Given the description of an element on the screen output the (x, y) to click on. 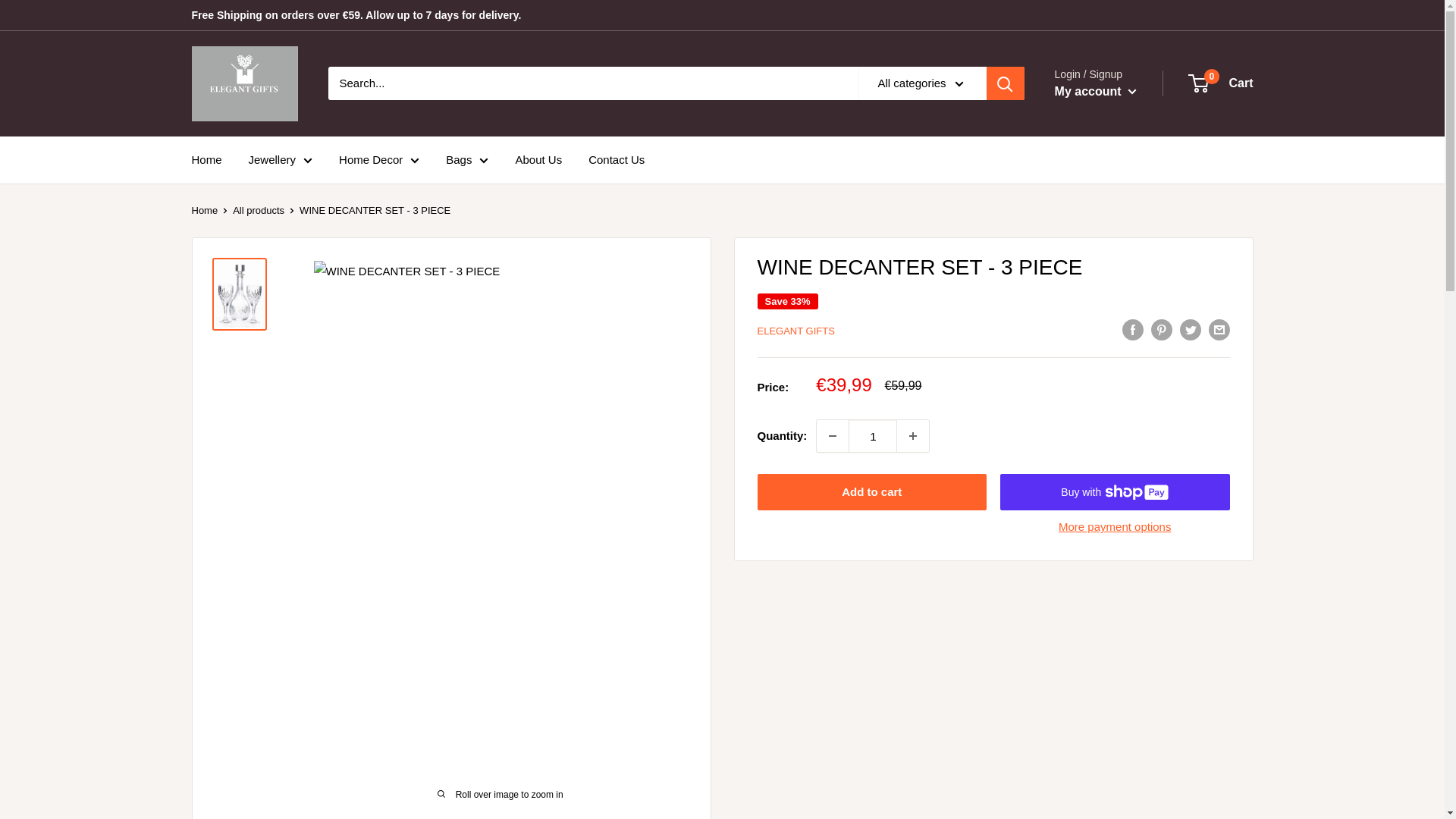
My account (1095, 91)
Increase quantity by 1 (912, 436)
Decrease quantity by 1 (832, 436)
1 (872, 436)
